Given the description of an element on the screen output the (x, y) to click on. 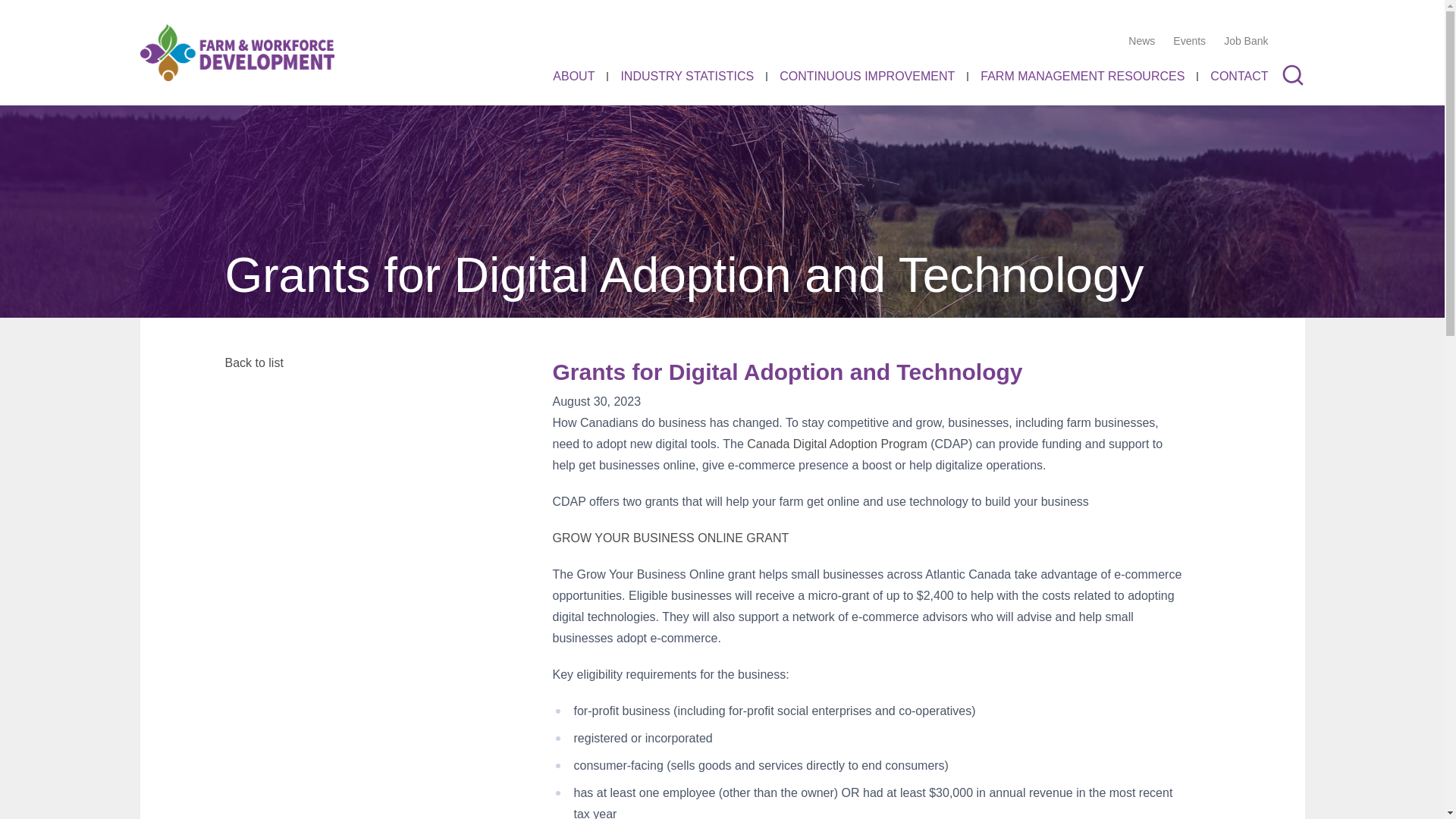
ABOUT (573, 75)
INDUSTRY STATISTICS (687, 75)
CONTINUOUS IMPROVEMENT (866, 75)
Job Bank (1246, 40)
FARM MANAGEMENT RESOURCES (1082, 75)
Events (1189, 40)
News (1141, 40)
